Given the description of an element on the screen output the (x, y) to click on. 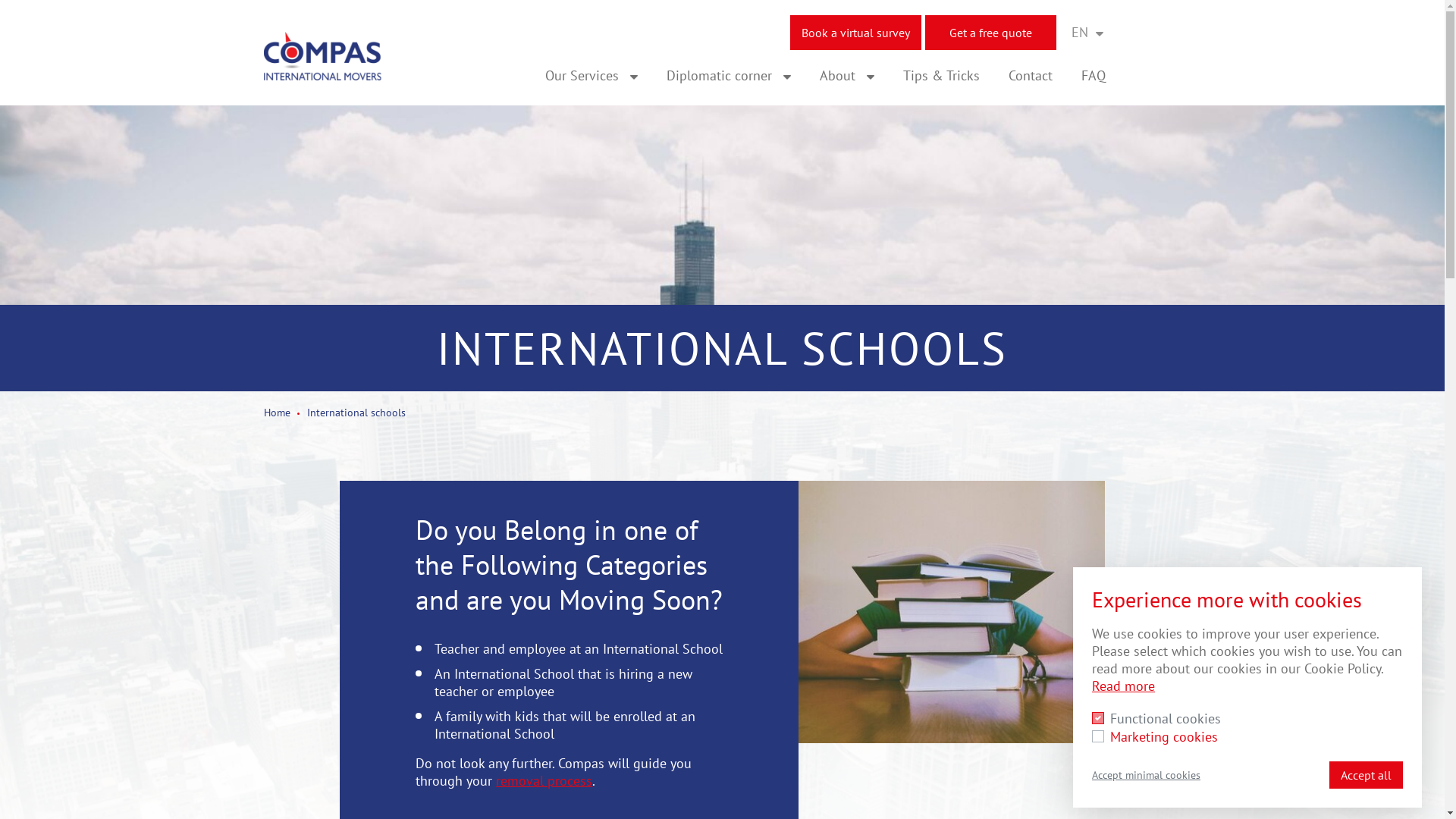
Accept all Element type: text (1365, 774)
Contact Element type: text (1030, 75)
About Element type: text (846, 75)
Tips & Tricks Element type: text (941, 75)
FAQ Element type: text (1093, 75)
Read more Element type: text (1123, 685)
Accept minimal cookies Element type: text (1146, 774)
Diplomatic corner Element type: text (728, 75)
Get a free quote Element type: text (990, 32)
Book a virtual survey Element type: text (855, 32)
Our Services Element type: text (591, 75)
International schools Element type: text (355, 412)
Home Element type: text (276, 412)
removal process Element type: text (543, 780)
